Given the description of an element on the screen output the (x, y) to click on. 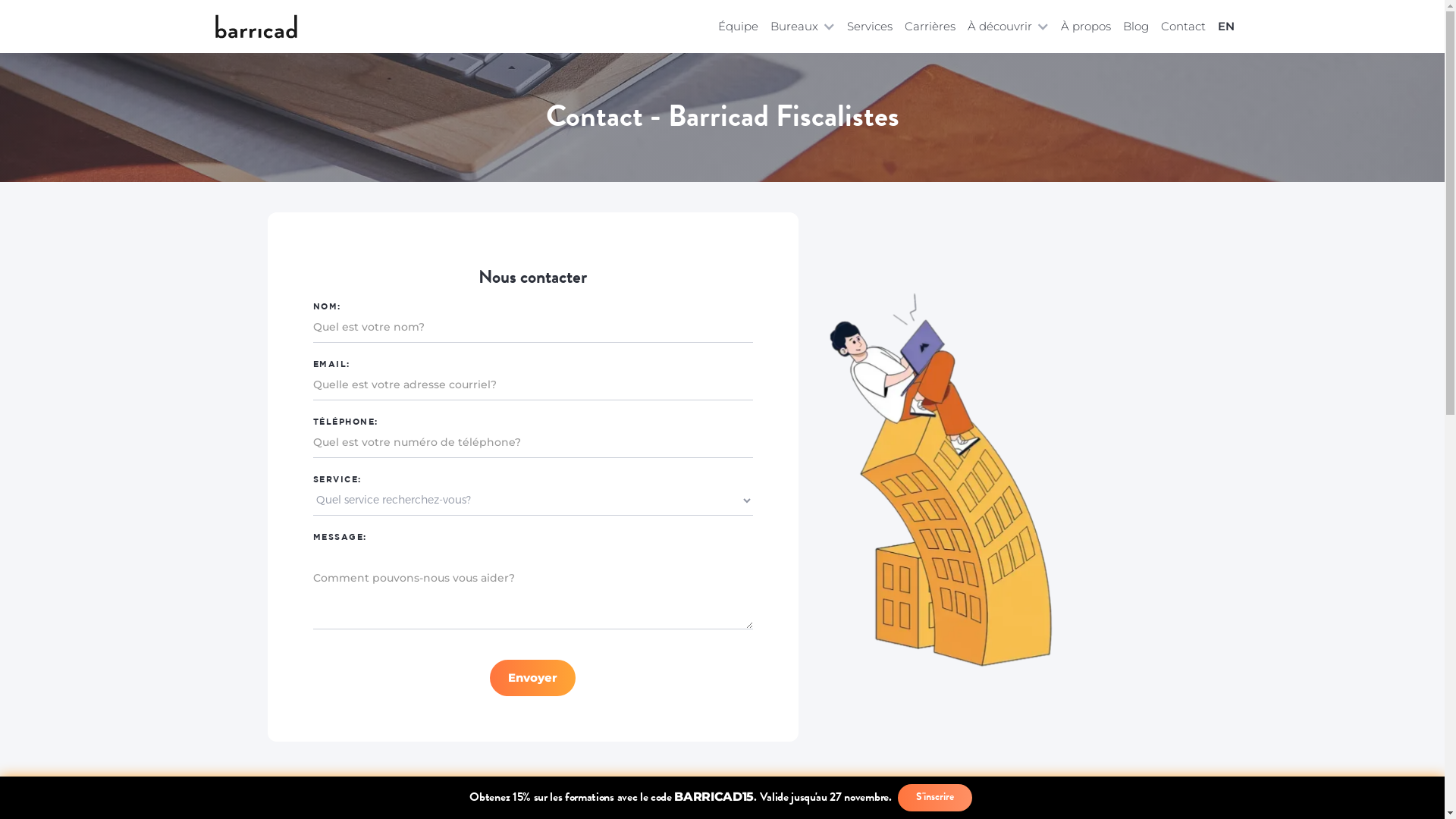
Contact Element type: text (1182, 26)
Services Element type: text (868, 26)
Envoyer Element type: text (532, 677)
EN Element type: text (1222, 26)
S'inscrire Element type: text (934, 797)
Blog Element type: text (1135, 26)
